Given the description of an element on the screen output the (x, y) to click on. 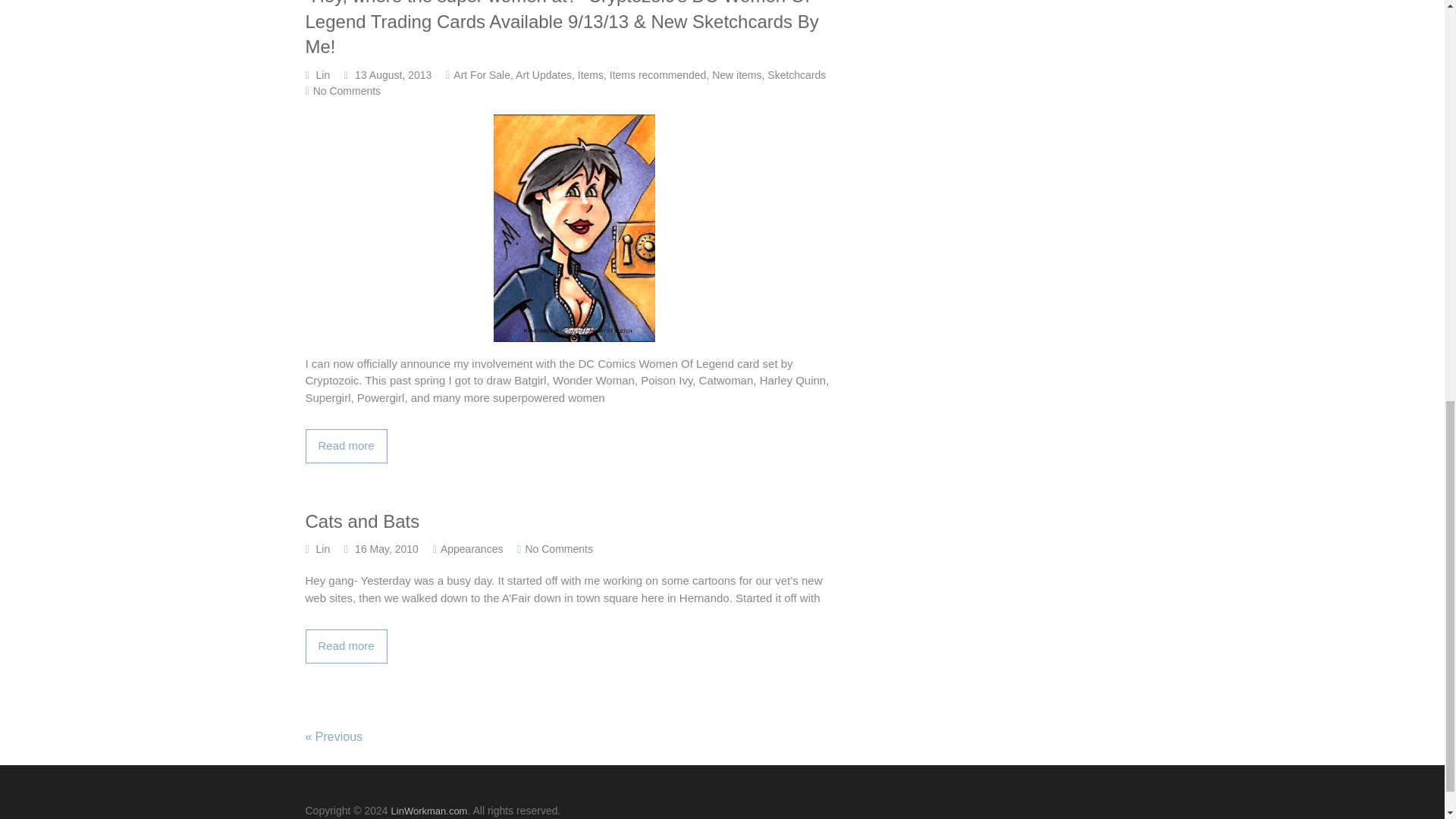
Sketchcards (796, 74)
6:30 AM (392, 74)
Items (591, 74)
Lin (322, 74)
New items (736, 74)
Cats and Bats (345, 646)
LinWorkman.com (429, 810)
Cats and Bats (573, 521)
13 August, 2013 (392, 74)
2:25 PM (387, 548)
